Given the description of an element on the screen output the (x, y) to click on. 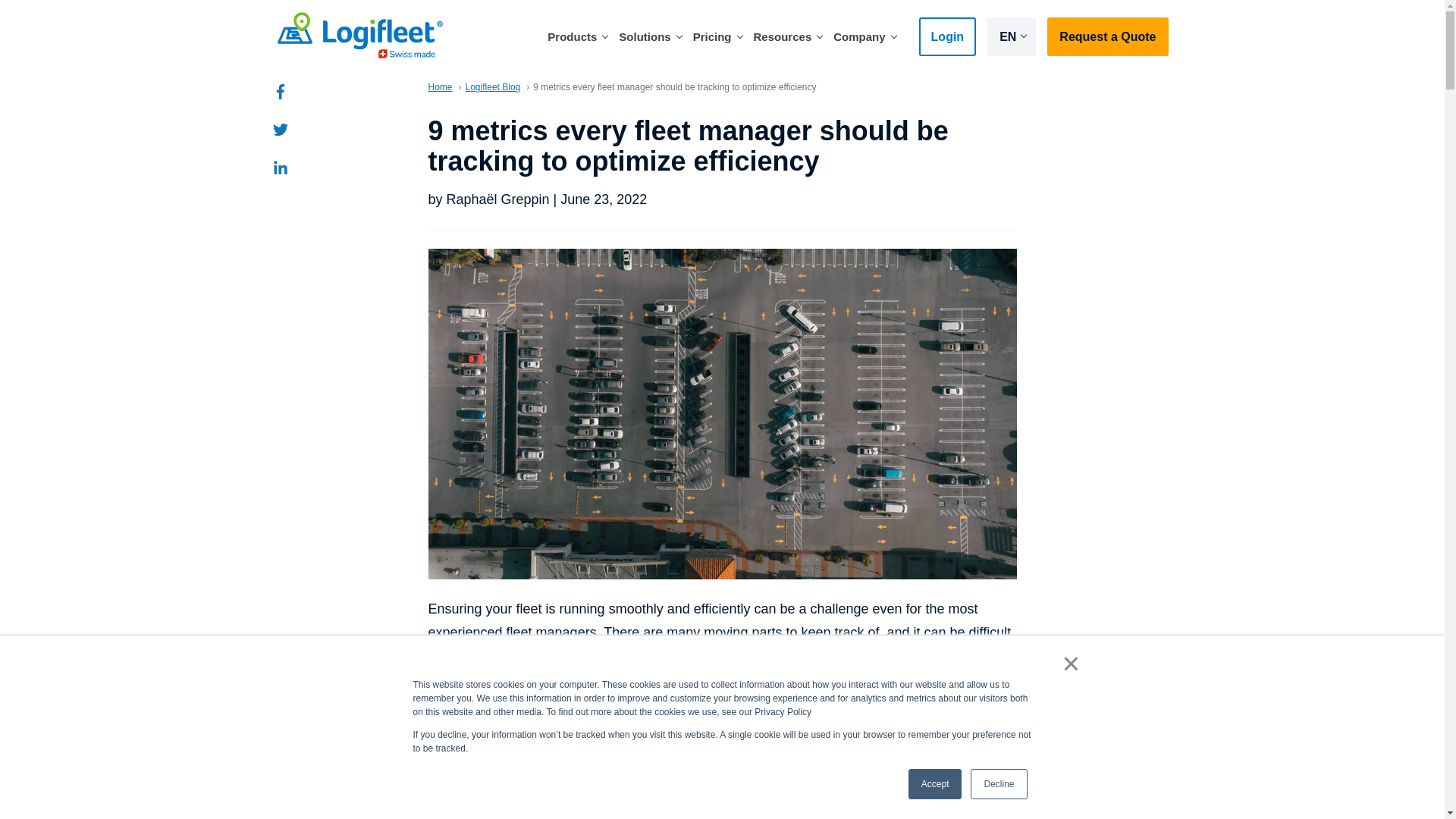
Decline (998, 784)
Accept (935, 784)
Share this blog post on Facebook (280, 91)
Share this blog post on Twitter (280, 129)
Share this blog post on LinkedIn (280, 167)
Products (578, 37)
